Given the description of an element on the screen output the (x, y) to click on. 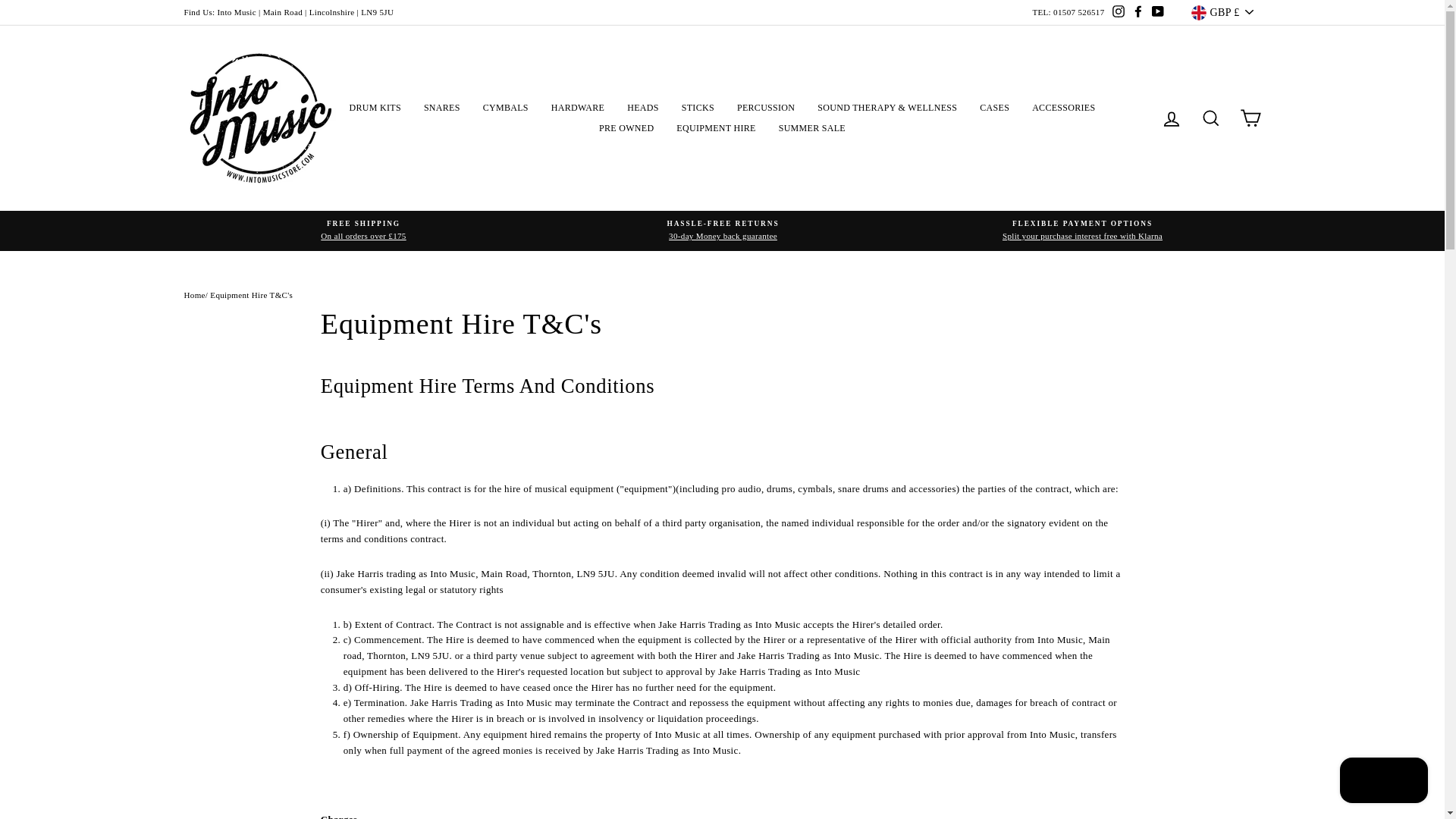
Into Music Store on Instagram (1118, 12)
Into Music Store on Facebook (1138, 12)
Back to the frontpage (194, 294)
Shopify online store chat (1383, 781)
Into Music Store on YouTube (1157, 12)
